Given the description of an element on the screen output the (x, y) to click on. 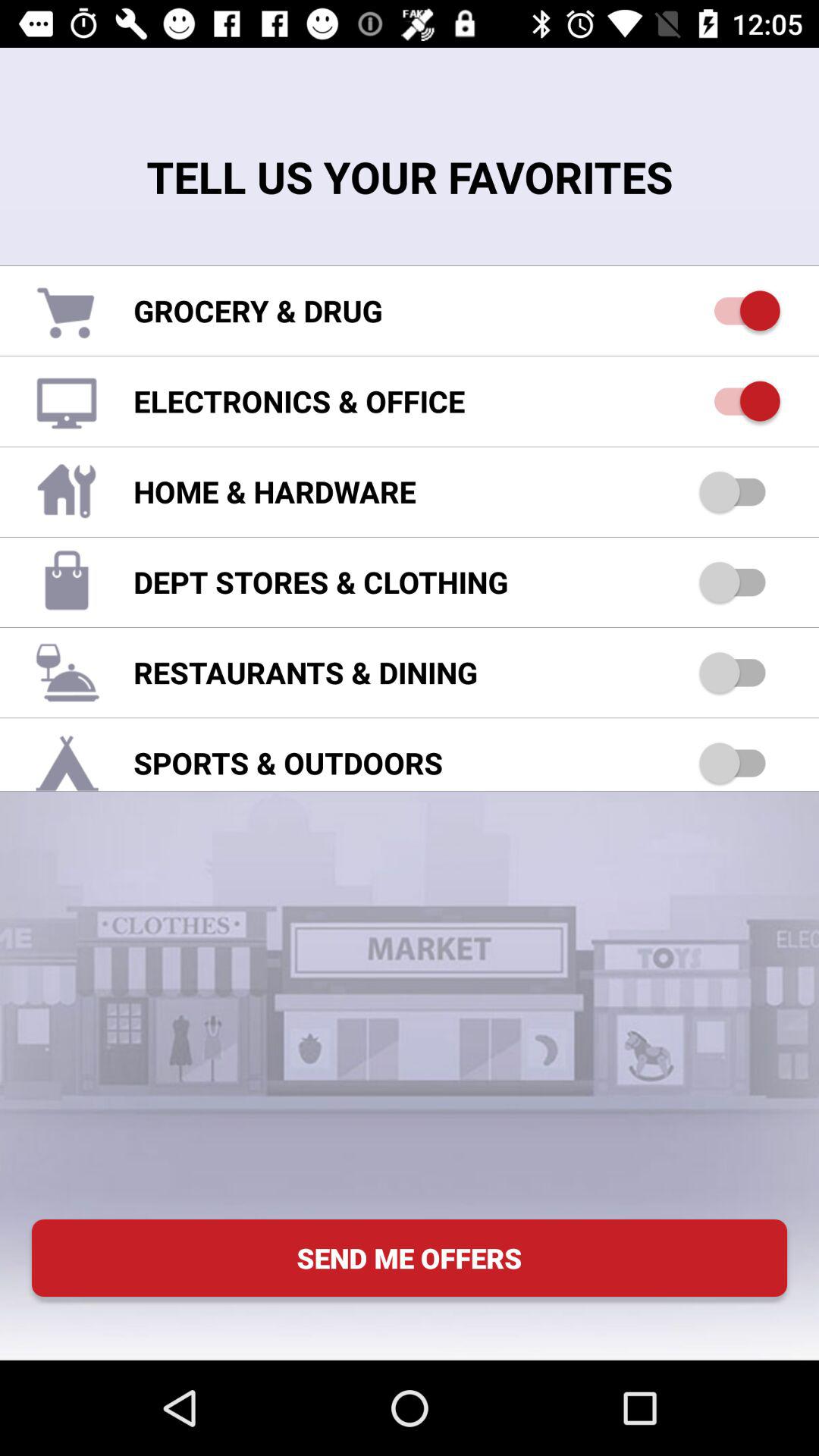
toggle dept stores and clothing options (739, 582)
